Given the description of an element on the screen output the (x, y) to click on. 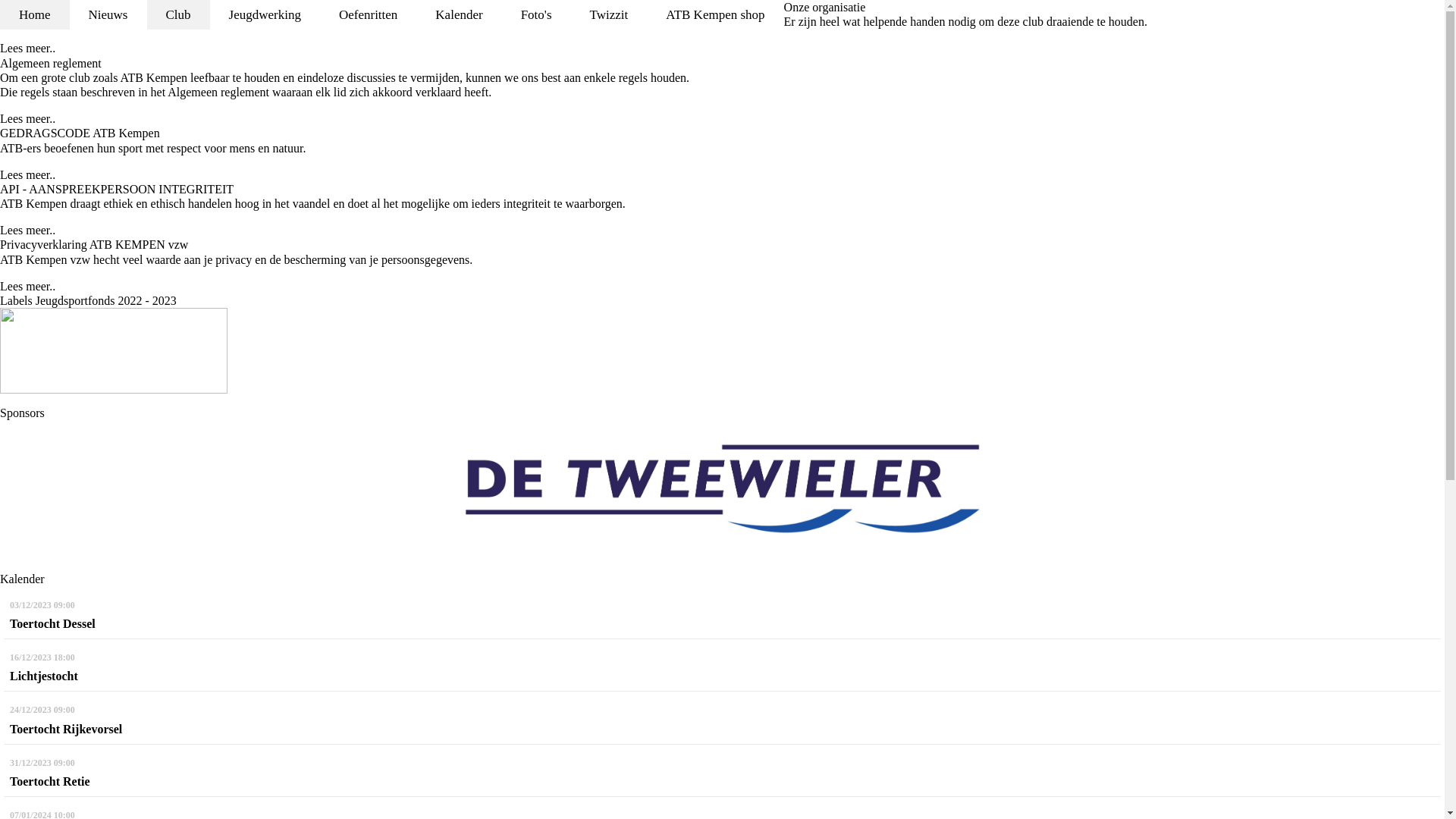
24/12/2023 09:00
Toertocht Rijkevorsel Element type: text (721, 719)
Lees meer.. Element type: text (27, 285)
Algemeen reglement Element type: text (50, 62)
Oefenritten Element type: text (367, 14)
Privacyverklaring ATB KEMPEN vzw Element type: text (94, 244)
Kalender Element type: text (458, 14)
Lees meer.. Element type: text (27, 47)
Onze organisatie Element type: text (825, 6)
Twizzit Element type: text (608, 14)
GEDRAGSCODE ATB Kempen Element type: text (80, 132)
Lees meer.. Element type: text (27, 229)
ATB Kempen shop Element type: text (714, 14)
16/12/2023 18:00
Lichtjestocht Element type: text (721, 667)
Home Element type: text (34, 14)
Nieuws Element type: text (108, 14)
Club Element type: text (177, 14)
Foto's Element type: text (536, 14)
API - AANSPREEKPERSOON INTEGRITEIT Element type: text (116, 188)
03/12/2023 09:00
Toertocht Dessel Element type: text (721, 614)
Lees meer.. Element type: text (27, 118)
Jeugdwerking Element type: text (265, 14)
31/12/2023 09:00
Toertocht Retie Element type: text (721, 772)
Lees meer.. Element type: text (27, 174)
